Given the description of an element on the screen output the (x, y) to click on. 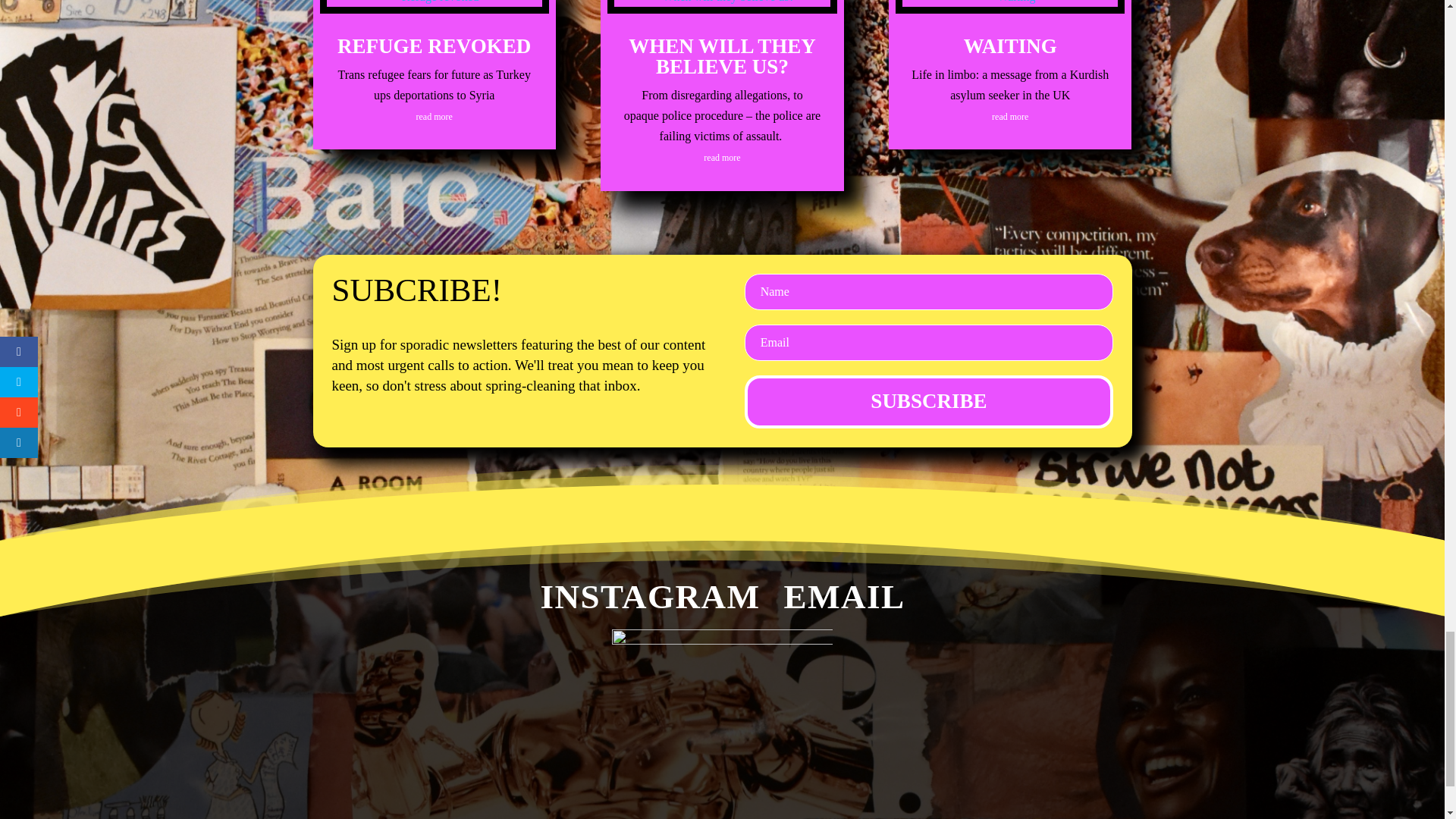
tidied with shadow (721, 724)
SUBSCRIBE (928, 401)
REFUGE REVOKED (434, 46)
WHEN WILL THEY BELIEVE US? (721, 56)
read more (434, 116)
read more (1009, 116)
EMAIL (826, 588)
INSTAGRAM (617, 588)
read more (721, 157)
WAITING (1010, 46)
